Given the description of an element on the screen output the (x, y) to click on. 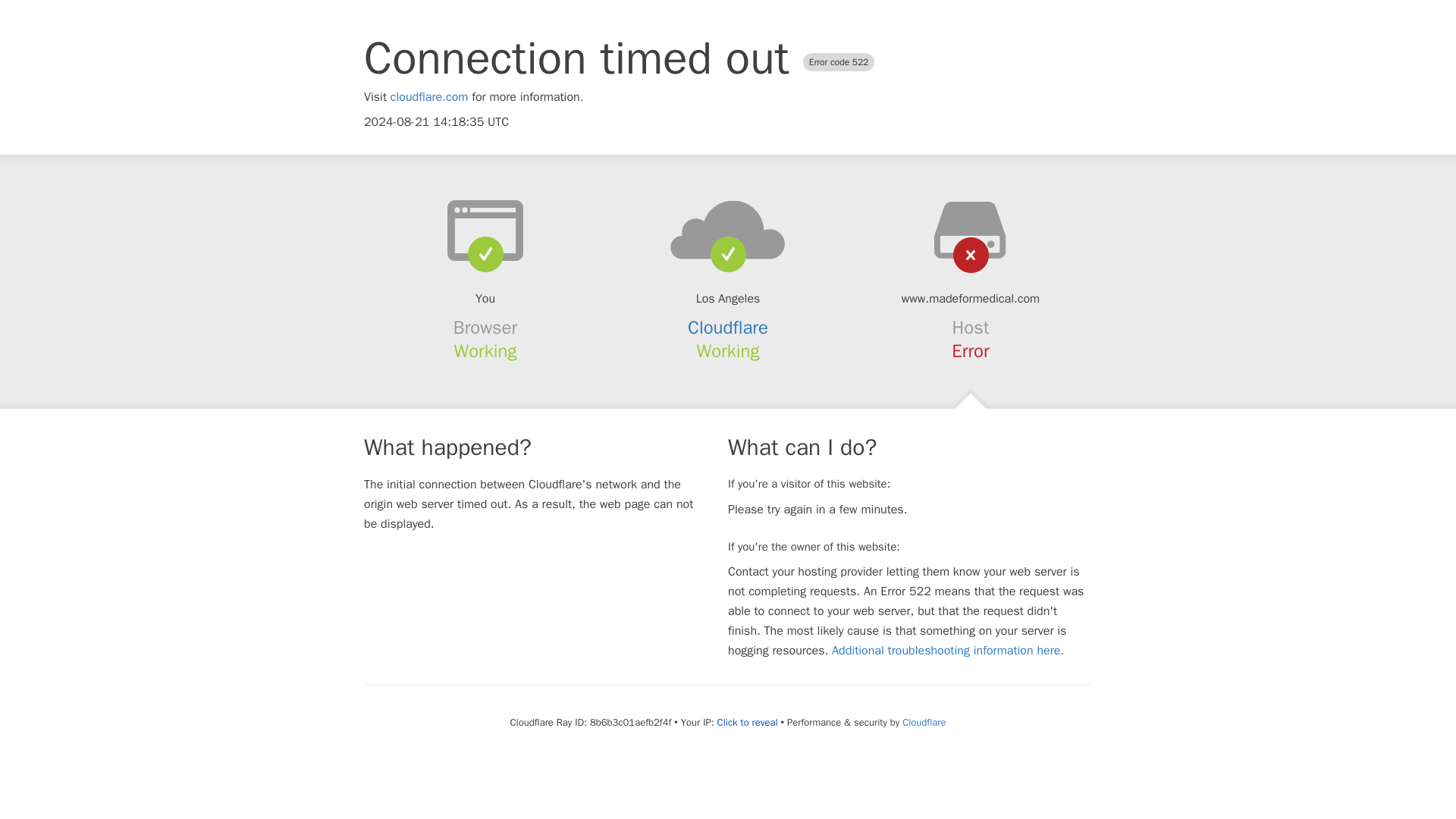
Click to reveal (747, 722)
Cloudflare (727, 327)
Additional troubleshooting information here. (947, 650)
cloudflare.com (429, 96)
Cloudflare (923, 721)
